Given the description of an element on the screen output the (x, y) to click on. 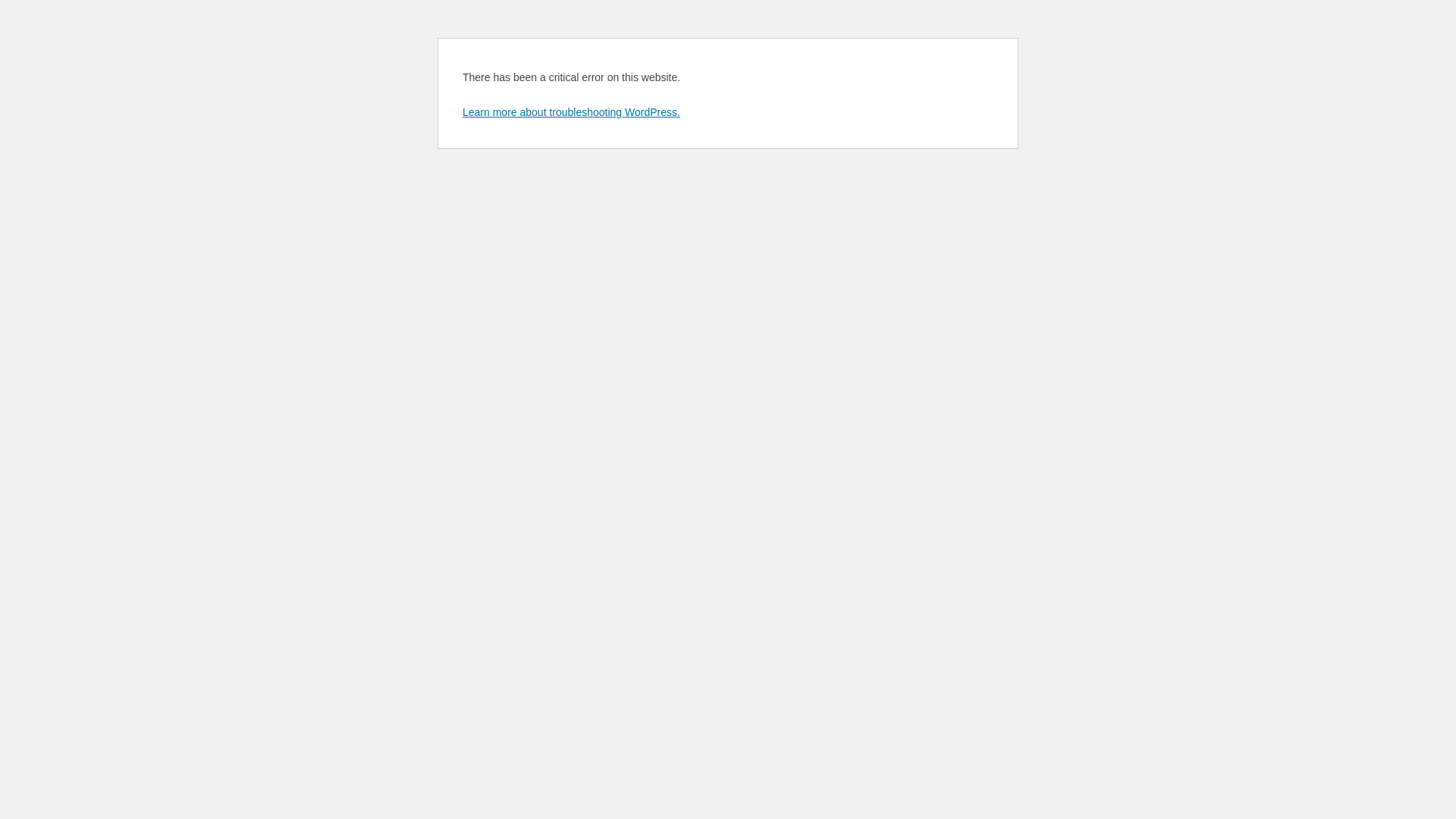
Learn more about troubleshooting WordPress. Element type: text (571, 112)
